Given the description of an element on the screen output the (x, y) to click on. 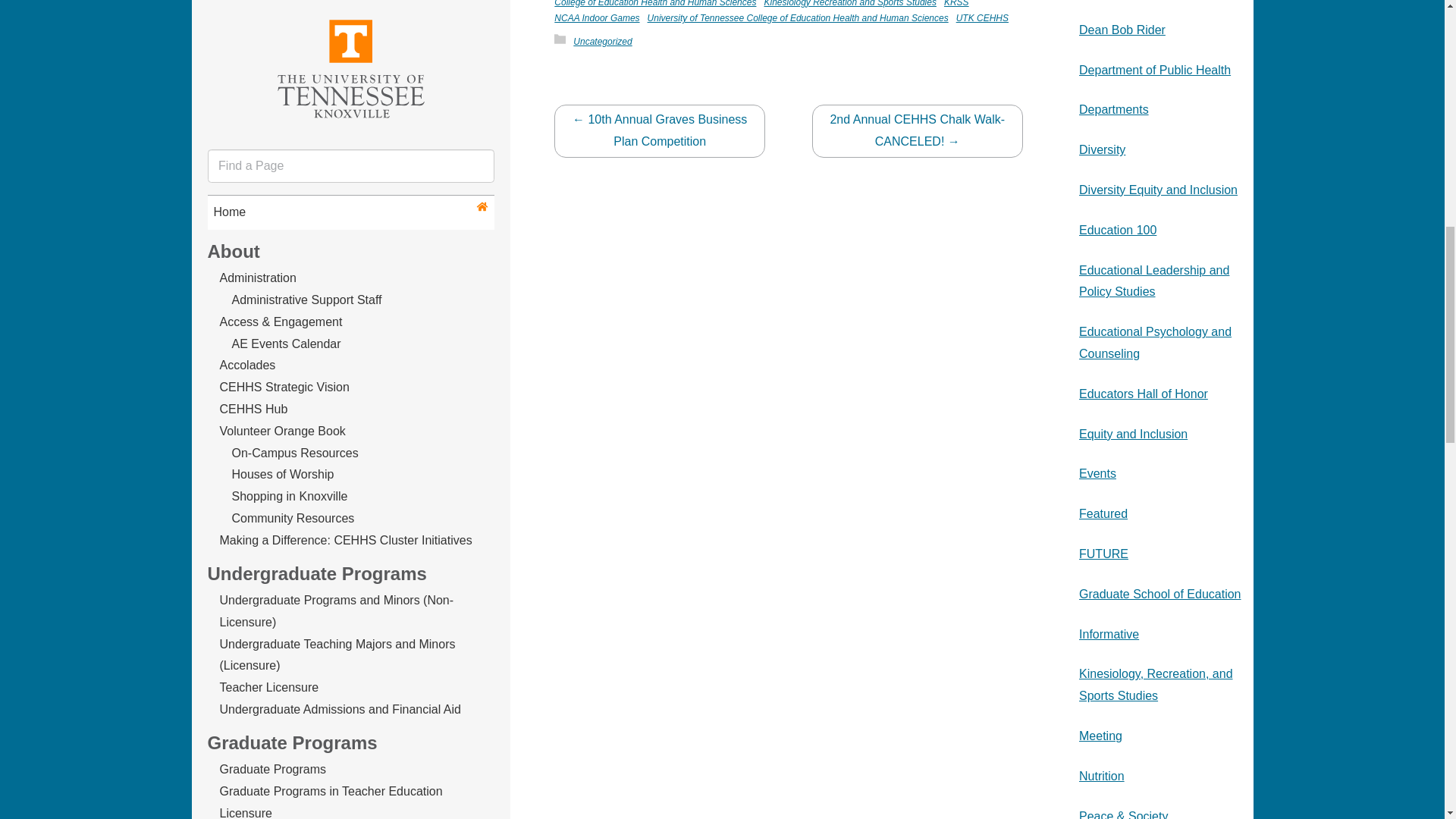
Graduate Certificate Programs (301, 63)
Graduate Programs in Teacher Education Licensure (330, 2)
Graduate Admissions and Financial Aid (324, 85)
Teacher Licensure (268, 107)
Current Students (348, 147)
